Given the description of an element on the screen output the (x, y) to click on. 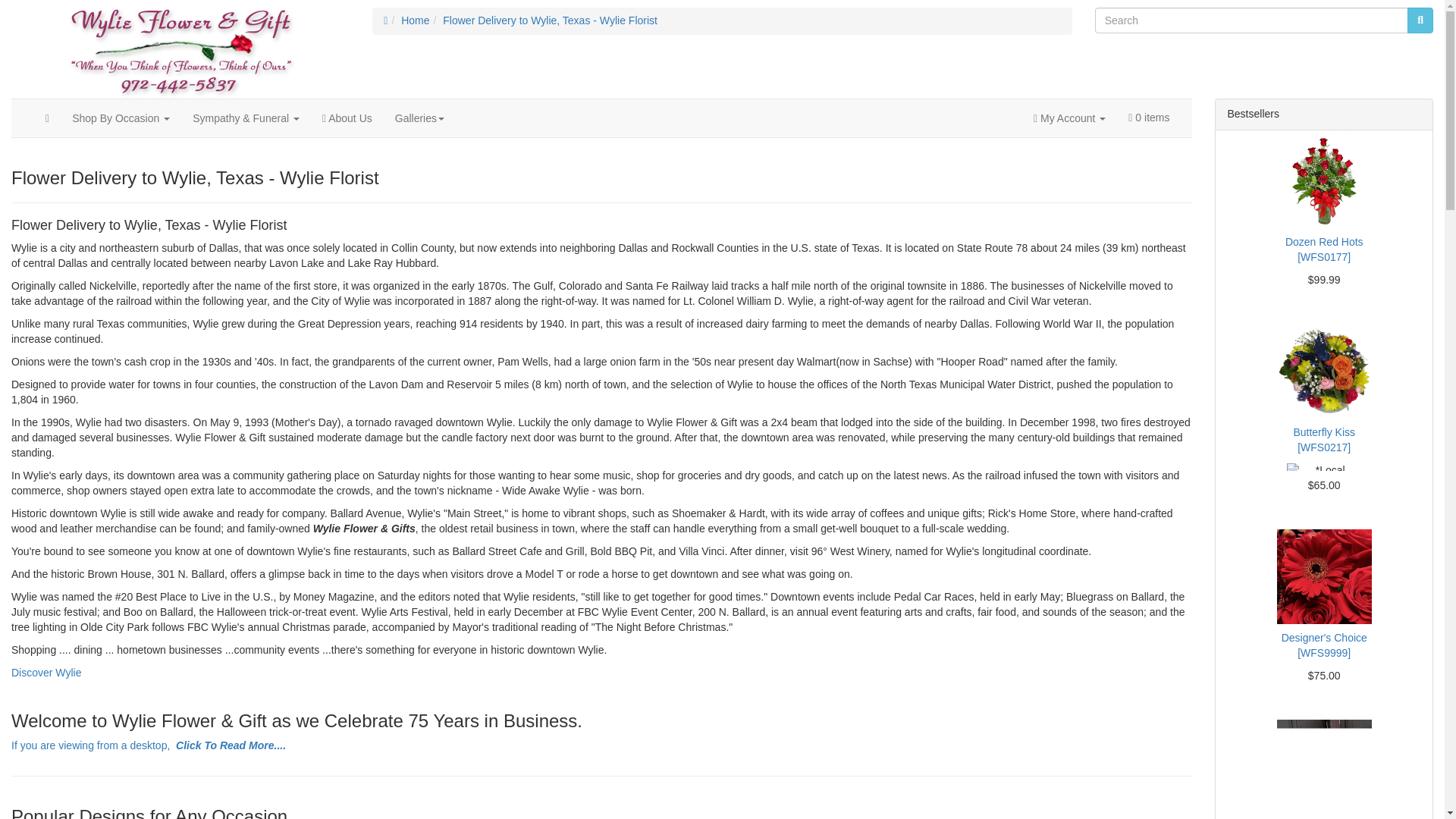
Home (415, 20)
Shop By Occasion (120, 118)
Flower Delivery to Wylie, Texas - Wylie Florist (550, 20)
Sachse Flower Shop (180, 49)
